Given the description of an element on the screen output the (x, y) to click on. 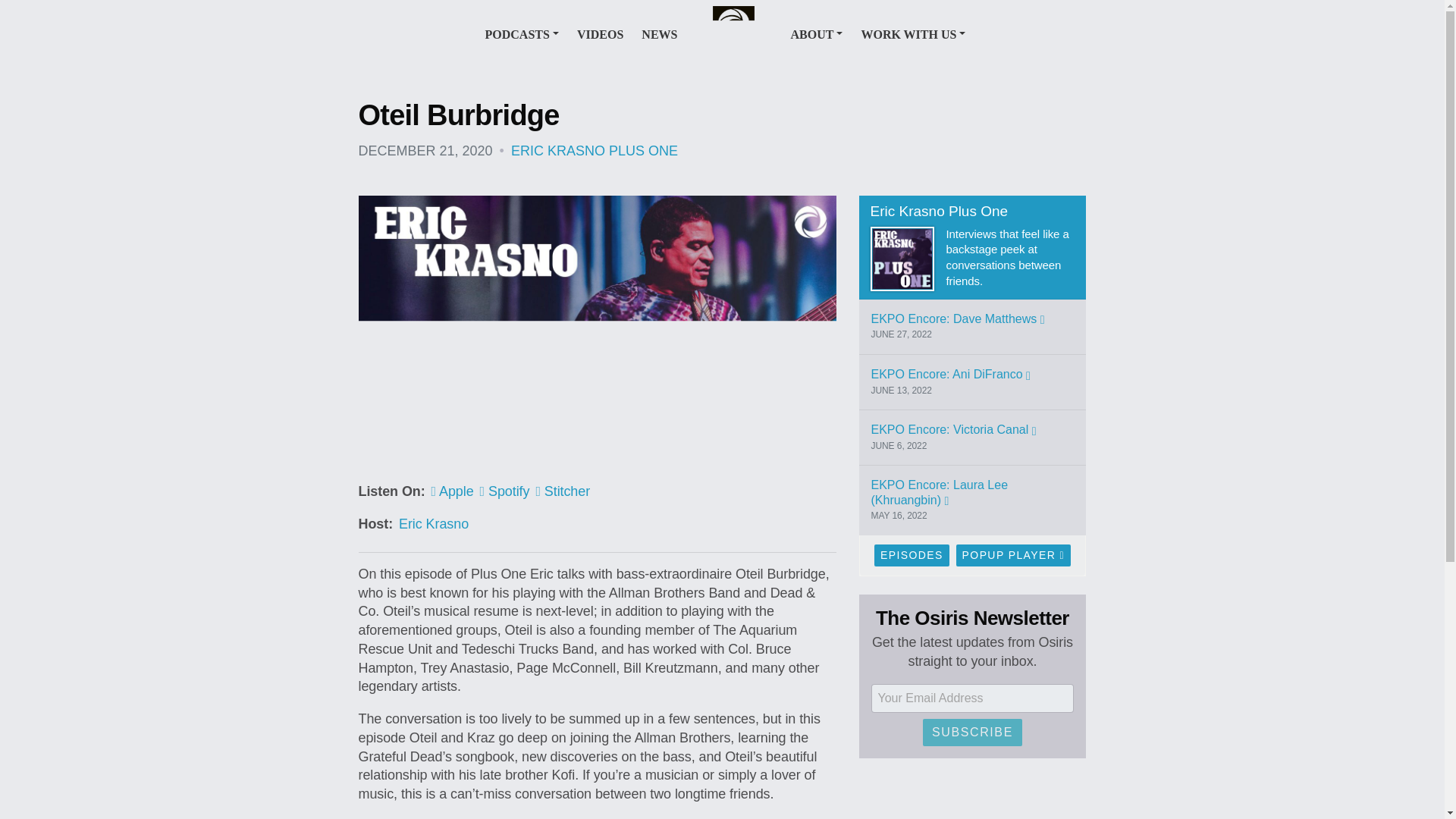
ERIC KRASNO PLUS ONE (594, 150)
ABOUT (816, 33)
WORK WITH US (912, 33)
Apple (452, 491)
Spotify (504, 491)
Stitcher (562, 491)
VIDEOS (599, 33)
PODCASTS (521, 33)
Subscribe (972, 732)
Eric Krasno (433, 523)
NEWS (659, 33)
